Given the description of an element on the screen output the (x, y) to click on. 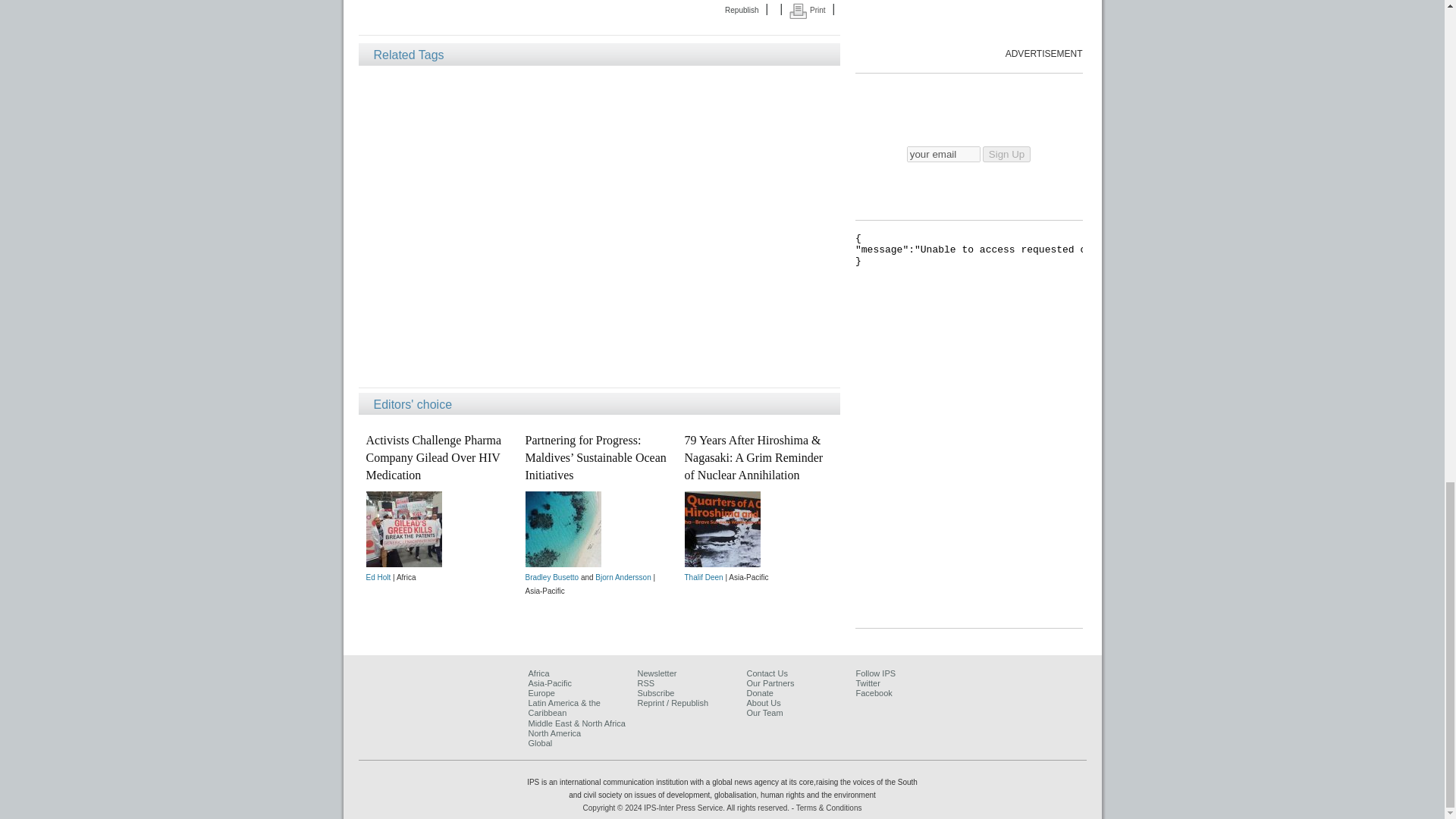
Posts by Ed Holt (377, 577)
Sign Up (1006, 154)
Posts by Bradley Busetto (551, 577)
Posts by Thalif Deen (703, 577)
your email (943, 154)
Posts by Bjorn Andersson (622, 577)
